Given the description of an element on the screen output the (x, y) to click on. 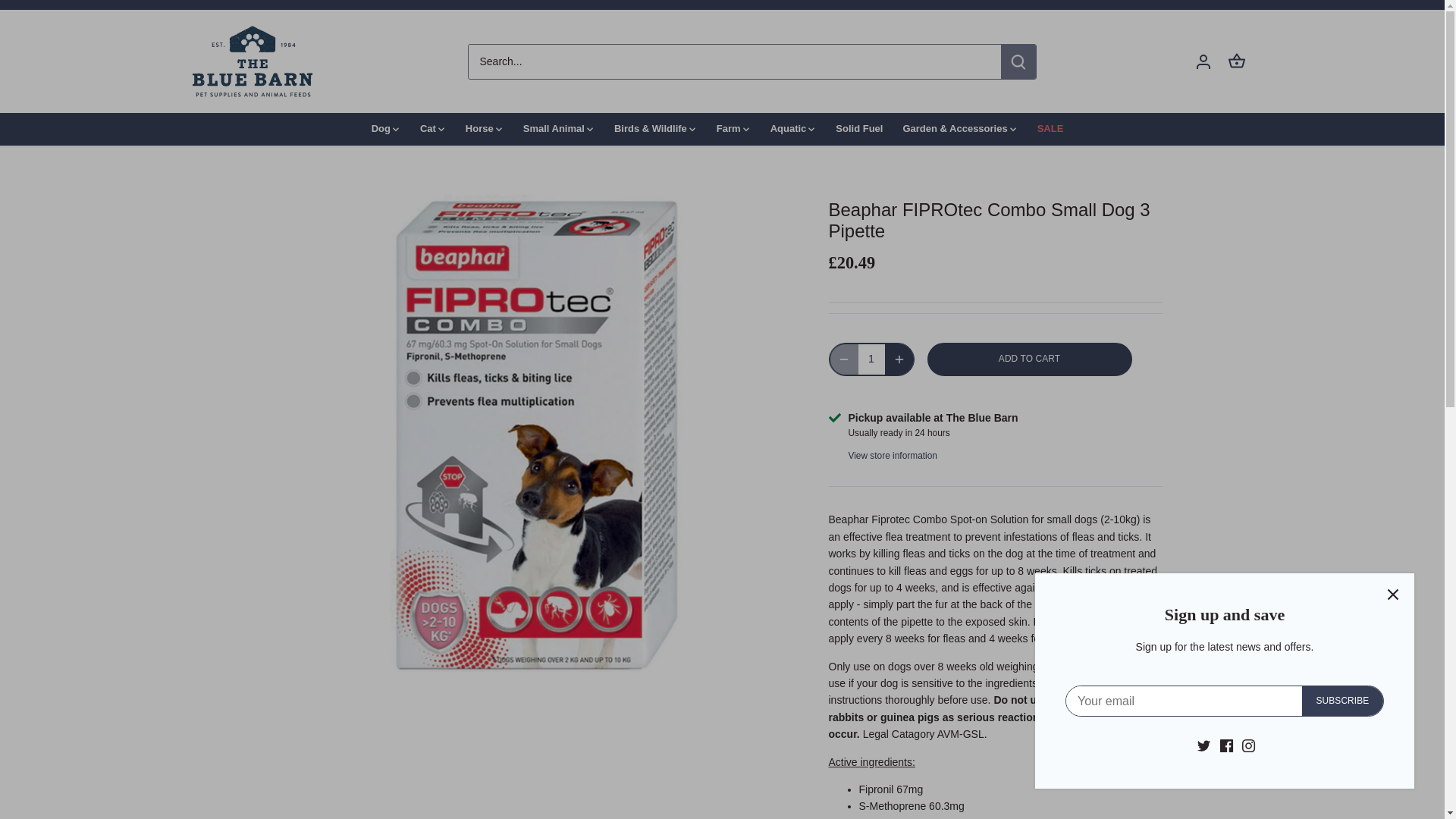
Cat (427, 129)
